Given the description of an element on the screen output the (x, y) to click on. 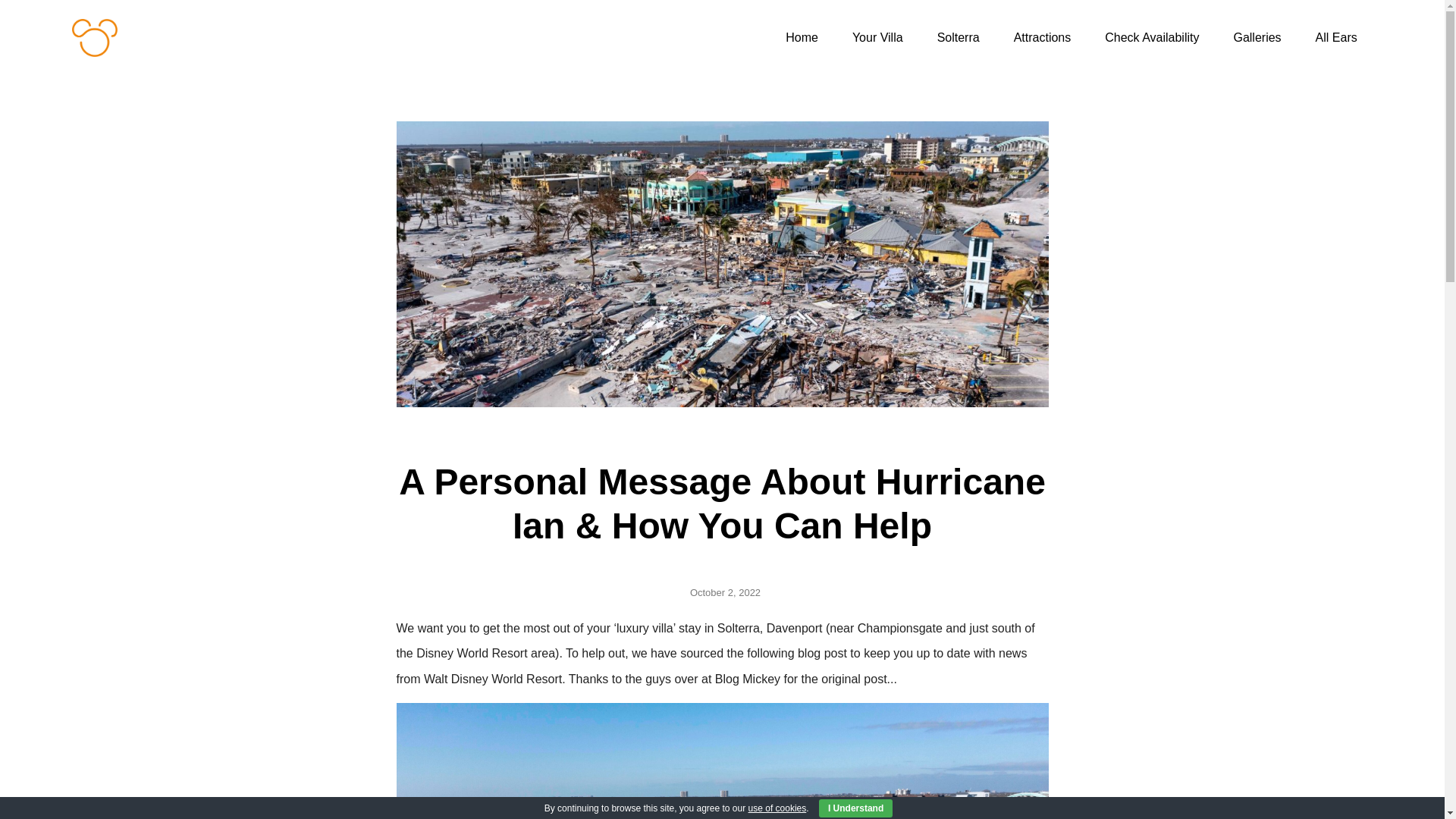
All Ears (1336, 37)
Home (801, 37)
Attractions (1042, 37)
Solterra (957, 37)
October 2, 2022 (722, 592)
Your Villa (877, 37)
Galleries (1256, 37)
Check Availability (1151, 37)
